Given the description of an element on the screen output the (x, y) to click on. 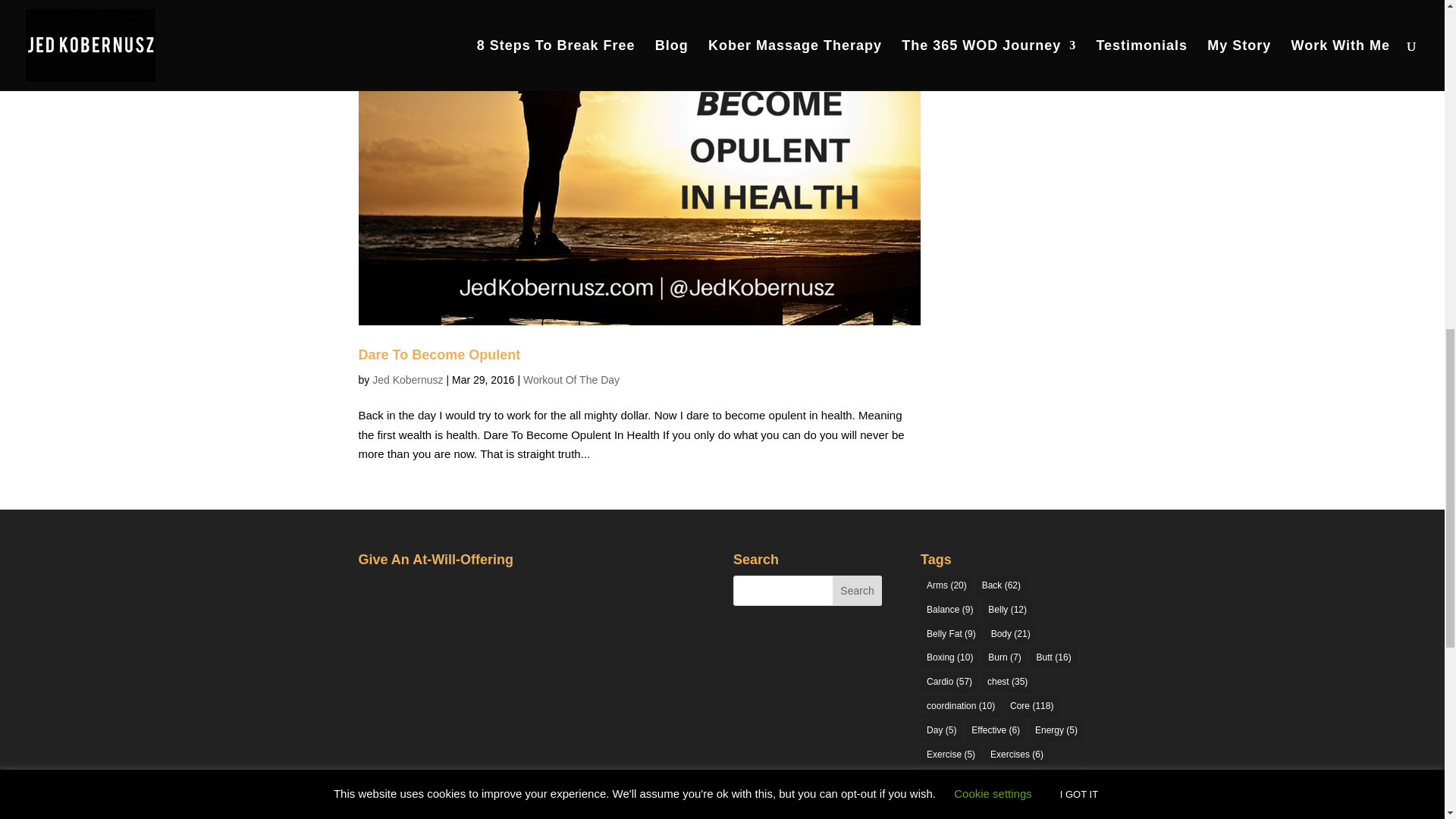
Workout Of The Day (571, 379)
Search (857, 590)
Posts by Jed Kobernusz (407, 379)
PayPal (435, 633)
Jed Kobernusz (407, 379)
Search (857, 590)
Dare To Become Opulent (438, 354)
